Given the description of an element on the screen output the (x, y) to click on. 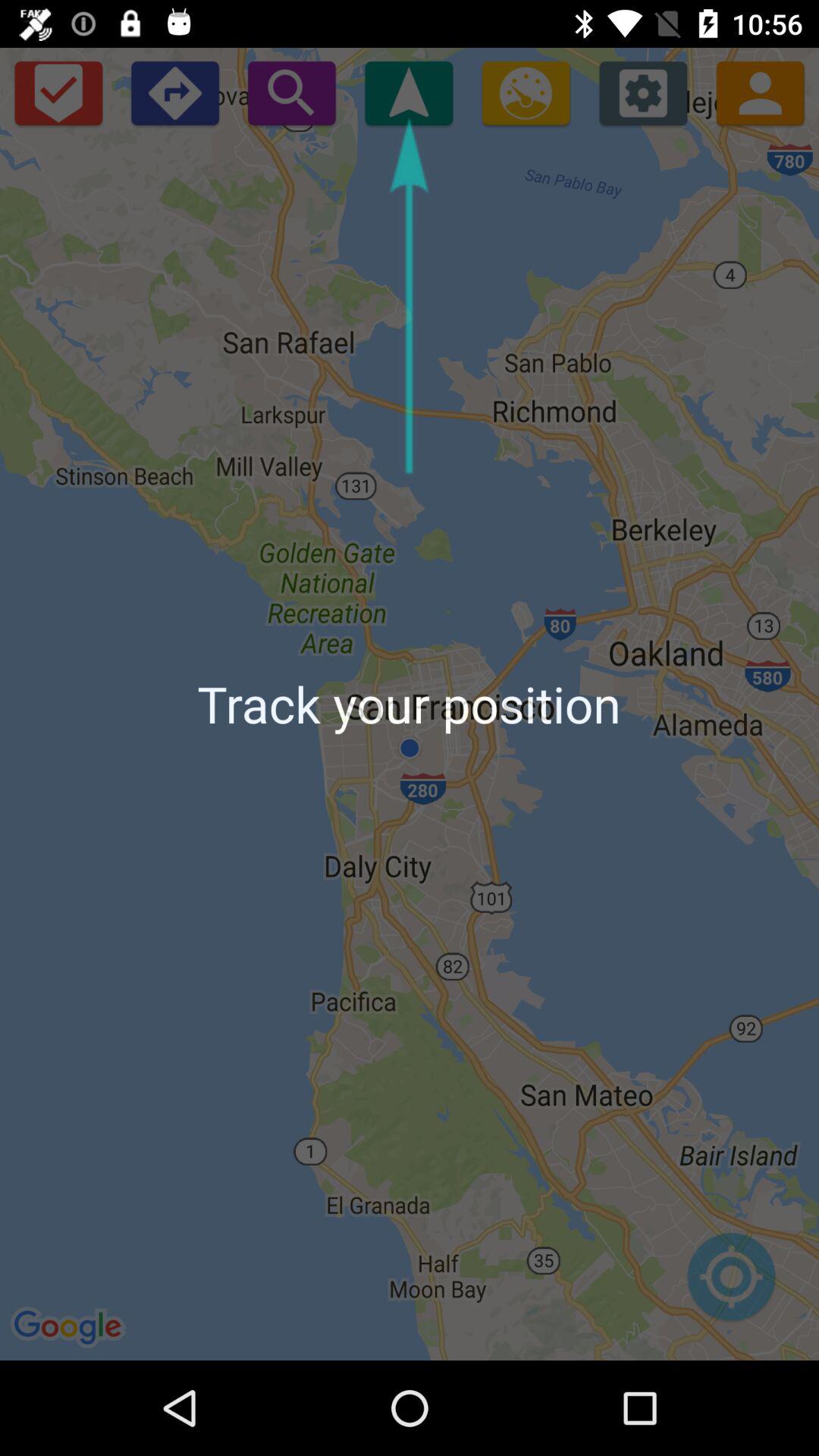
go to settings (642, 92)
